Given the description of an element on the screen output the (x, y) to click on. 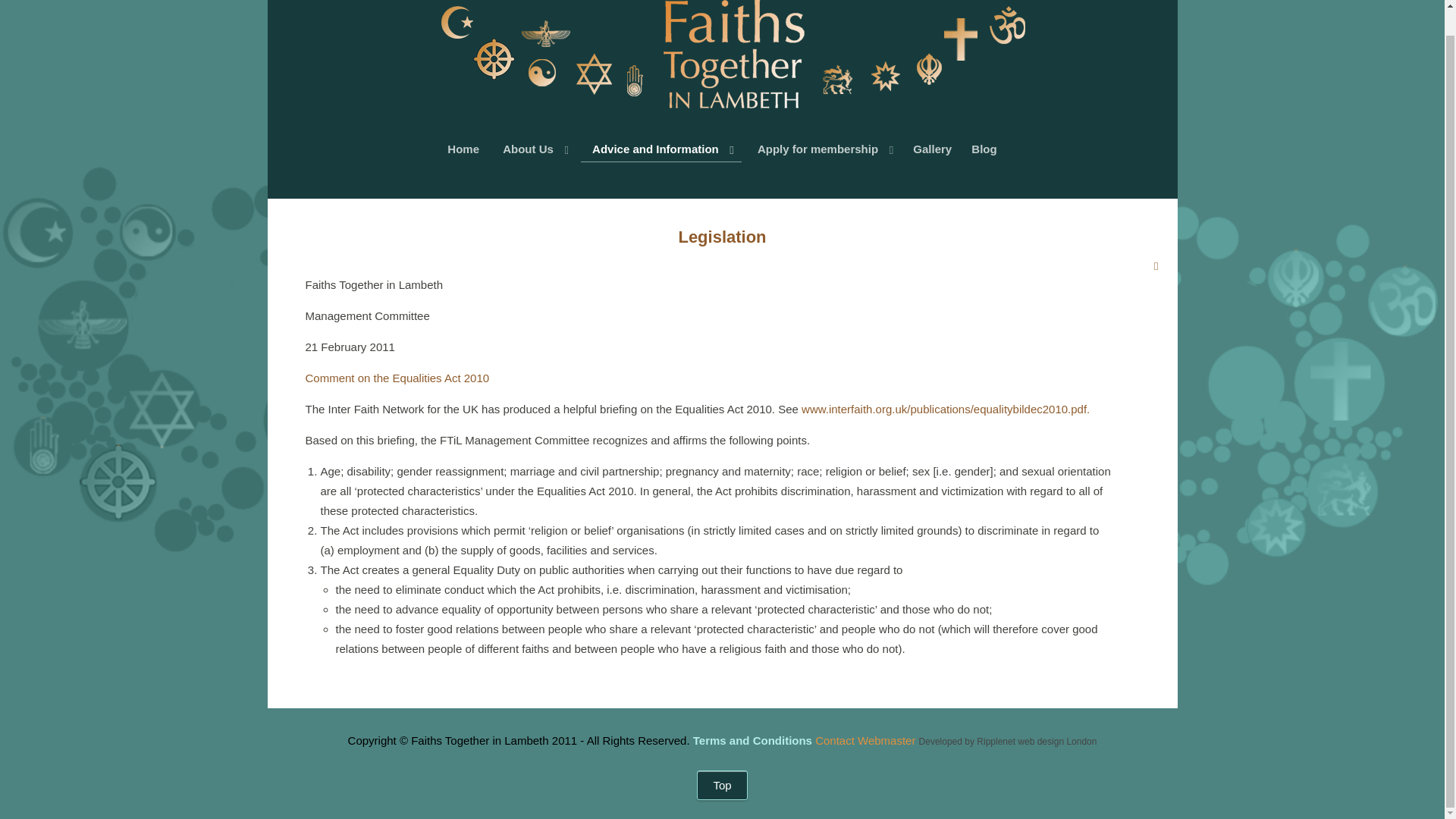
Advice and Information (660, 148)
Comment on the Equalities Act 2010 (396, 377)
About Us (534, 148)
Apply for membership (823, 148)
Ripplenet web design London (1036, 741)
Contact Webmaster (865, 739)
Terms and Conditions (752, 739)
email webmaster (865, 739)
Legislation (721, 236)
